Given the description of an element on the screen output the (x, y) to click on. 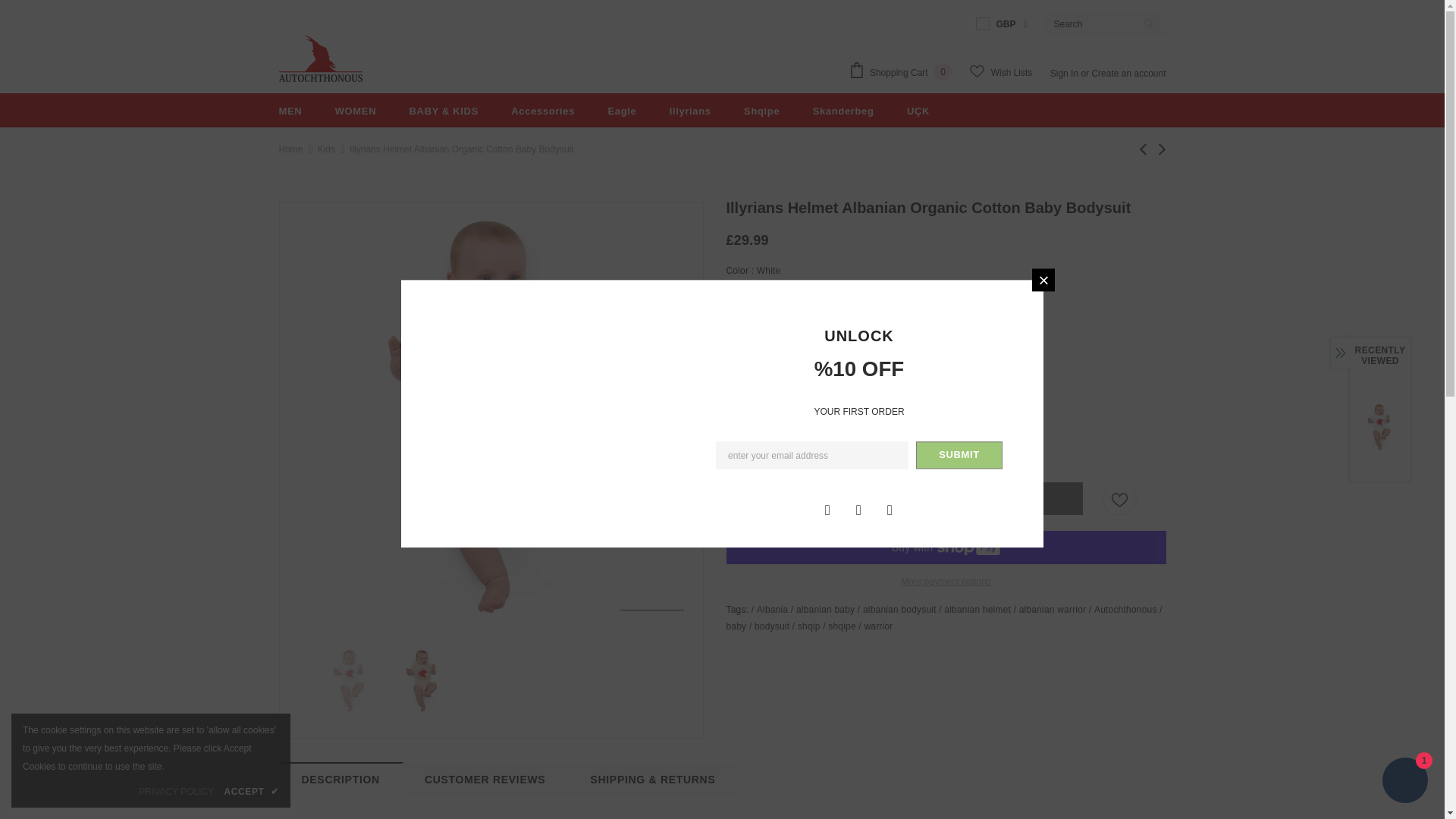
Shopping Cart 0 (903, 72)
Create an account (1128, 72)
Add to cart (905, 498)
Wish Lists (1000, 71)
Submit (959, 455)
Sign In (1065, 72)
1 (780, 426)
